Given the description of an element on the screen output the (x, y) to click on. 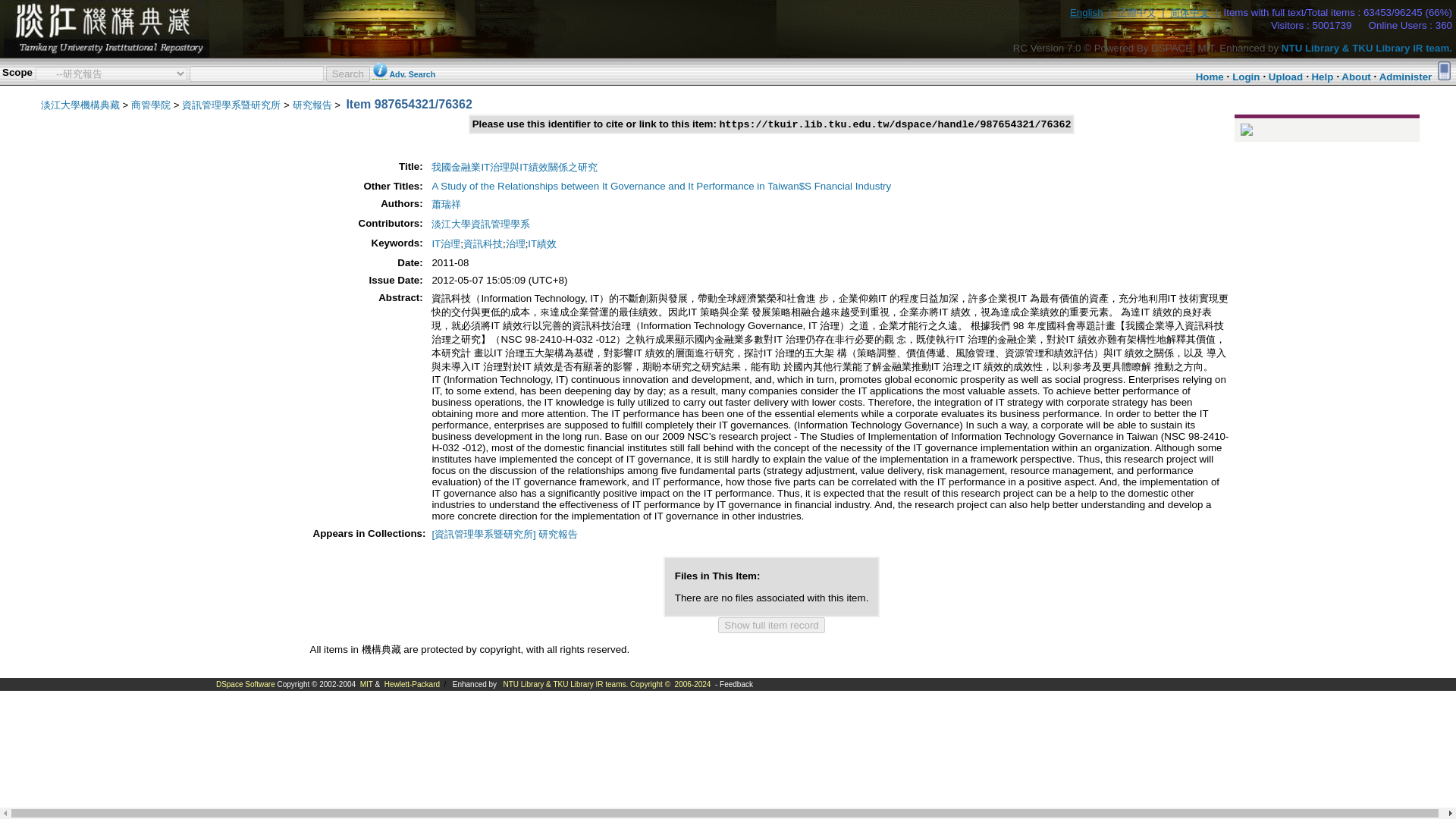
Goto mobile version (1443, 69)
MIT (365, 684)
Hewlett-Packard (411, 684)
Adv. Search (411, 73)
Home (1209, 76)
Administer (1405, 76)
DSpace Software (245, 684)
Search (347, 73)
Upload (1285, 76)
Feedback (735, 684)
Help (1322, 76)
English (1087, 12)
Show full item record (770, 625)
Login (1245, 76)
Show full item record (770, 625)
